Given the description of an element on the screen output the (x, y) to click on. 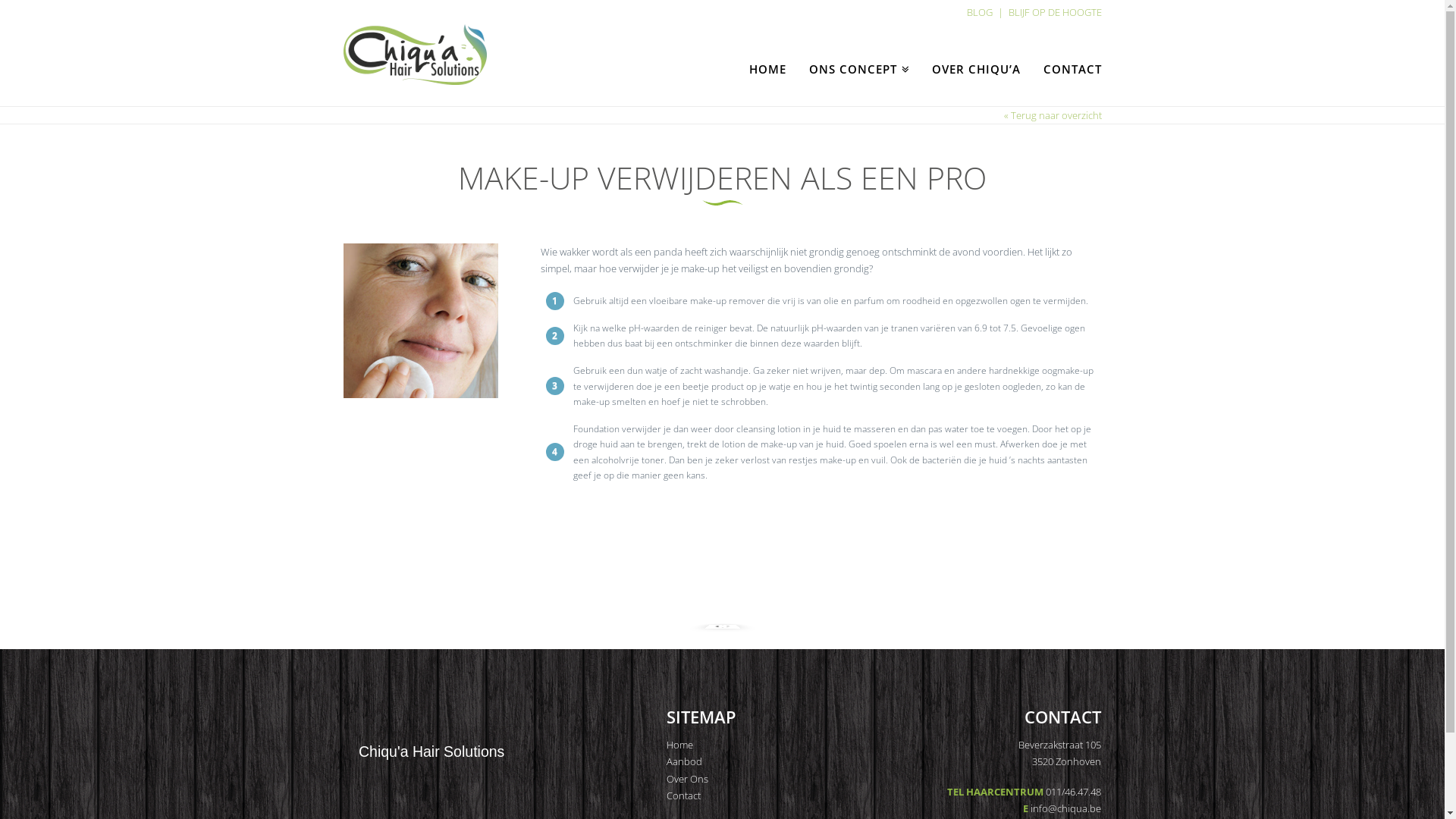
Over Ons Element type: text (687, 778)
HOME Element type: text (767, 49)
ONS CONCEPT Element type: text (858, 49)
Chiqu'a Hair Solutions Element type: text (431, 751)
Haarcentrum, pruiken & tulbandjes, trenzen Element type: hover (414, 54)
Contact Element type: text (683, 795)
info@chiqua.be Element type: text (1065, 808)
BLOG Element type: text (978, 11)
BLIJF OP DE HOOGTE Element type: text (1054, 11)
Home Element type: text (679, 744)
Aanbod Element type: text (684, 761)
CONTACT Element type: text (1066, 49)
